Given the description of an element on the screen output the (x, y) to click on. 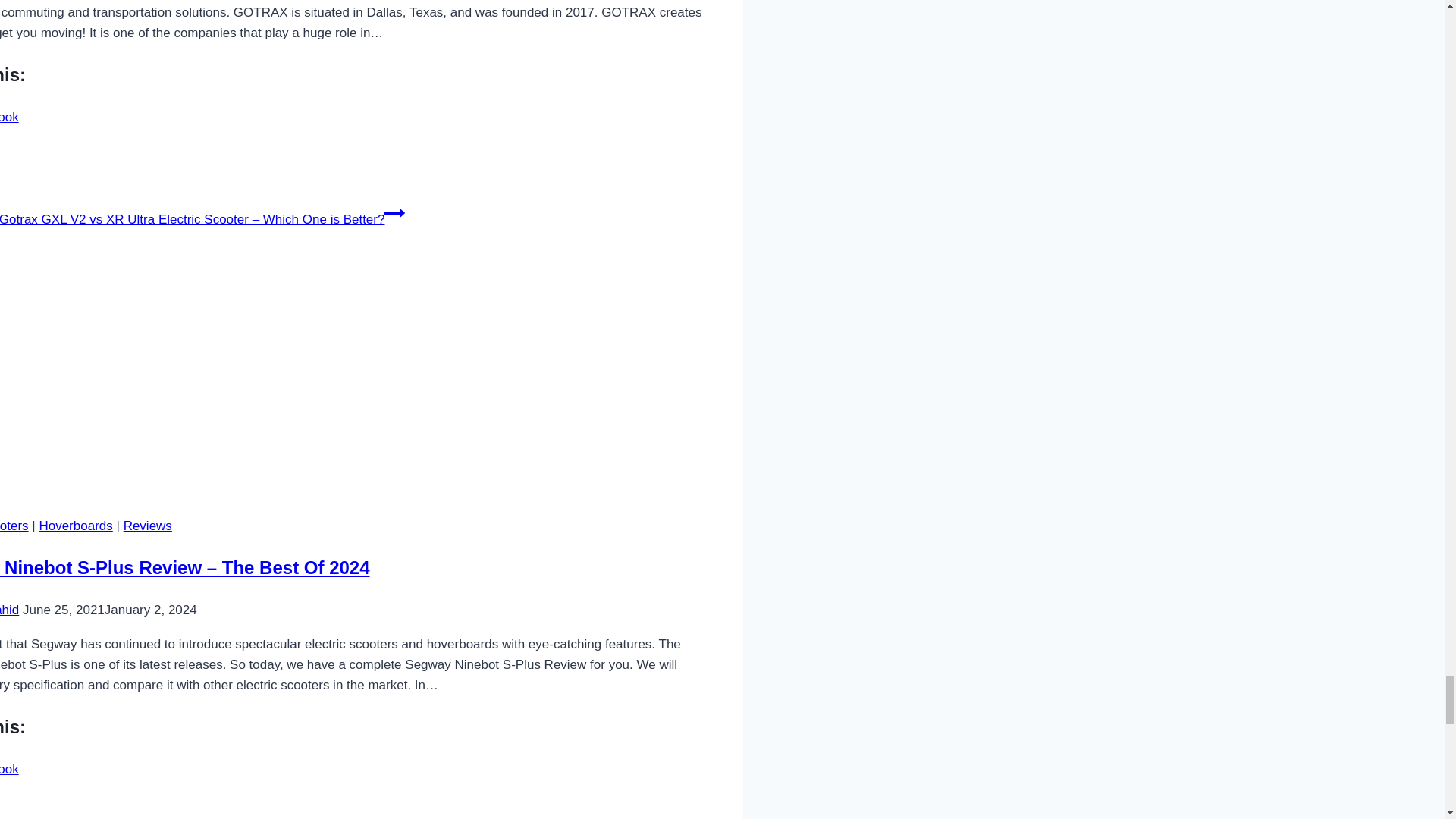
Continue (394, 212)
